Given the description of an element on the screen output the (x, y) to click on. 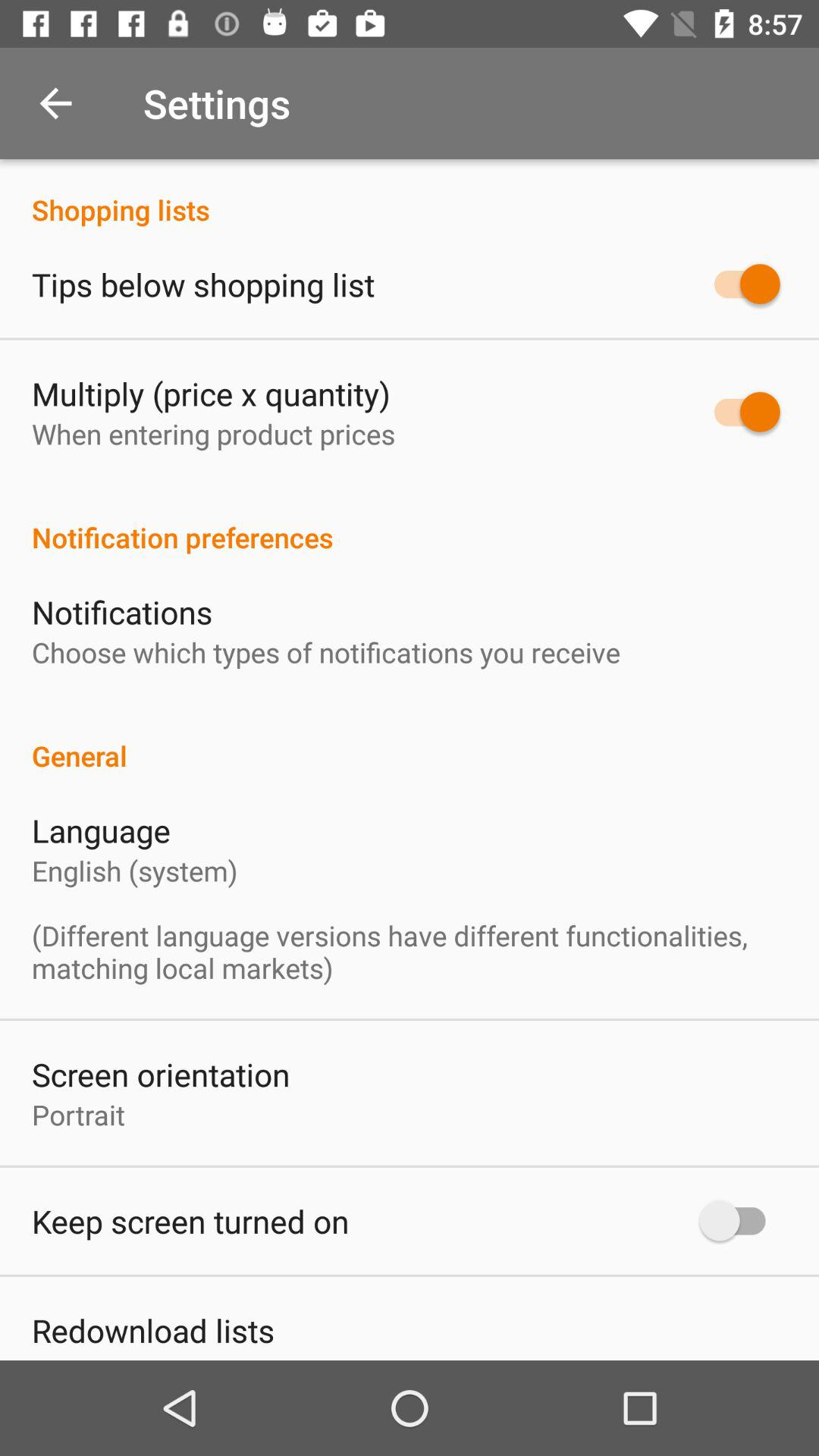
turn off item below the tips below shopping icon (210, 393)
